Given the description of an element on the screen output the (x, y) to click on. 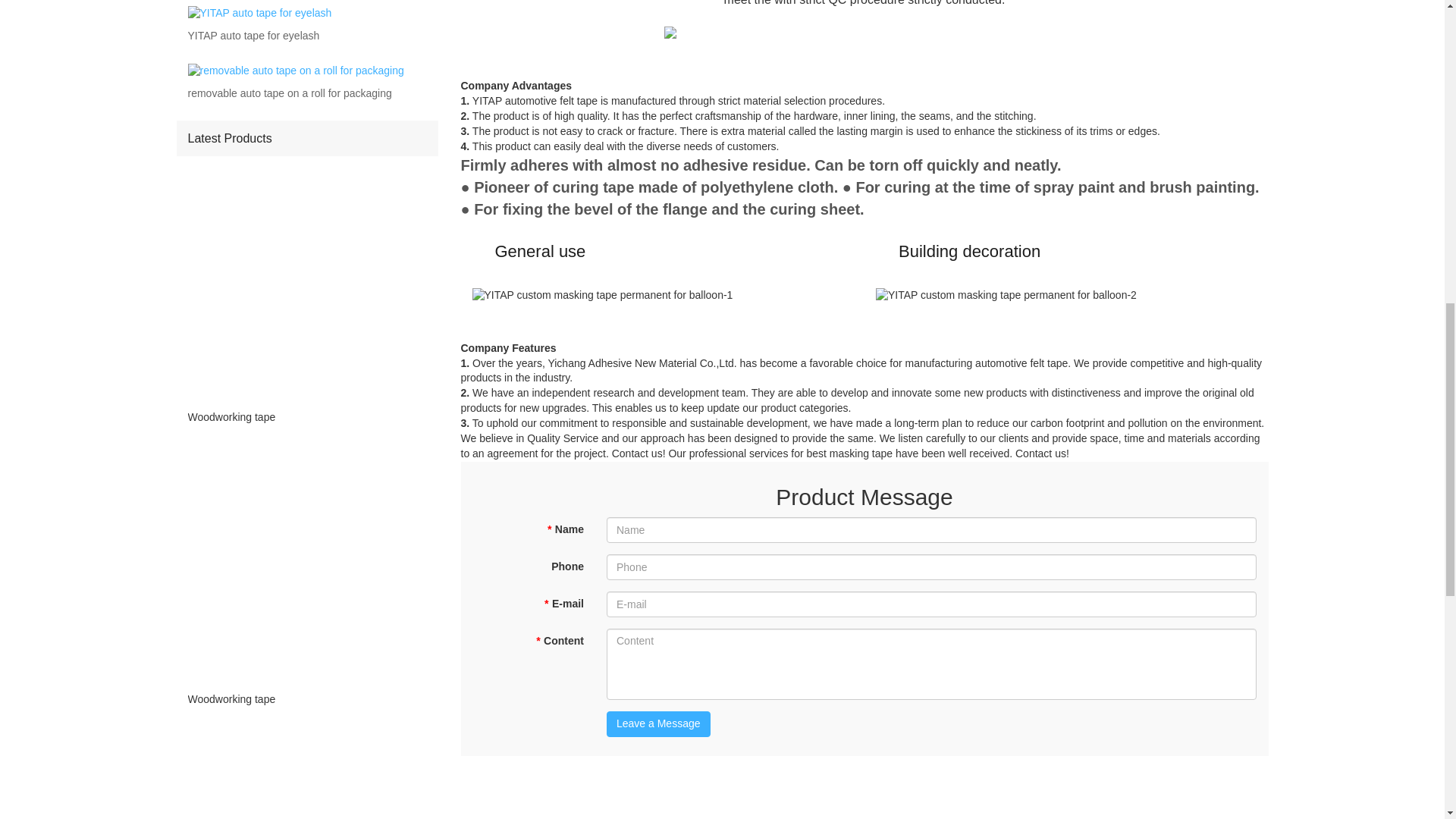
Woodworking tape (306, 699)
YITAP auto tape for eyelash (253, 36)
Woodworking tape (306, 416)
removable auto tape on a roll for packaging (289, 93)
